Given the description of an element on the screen output the (x, y) to click on. 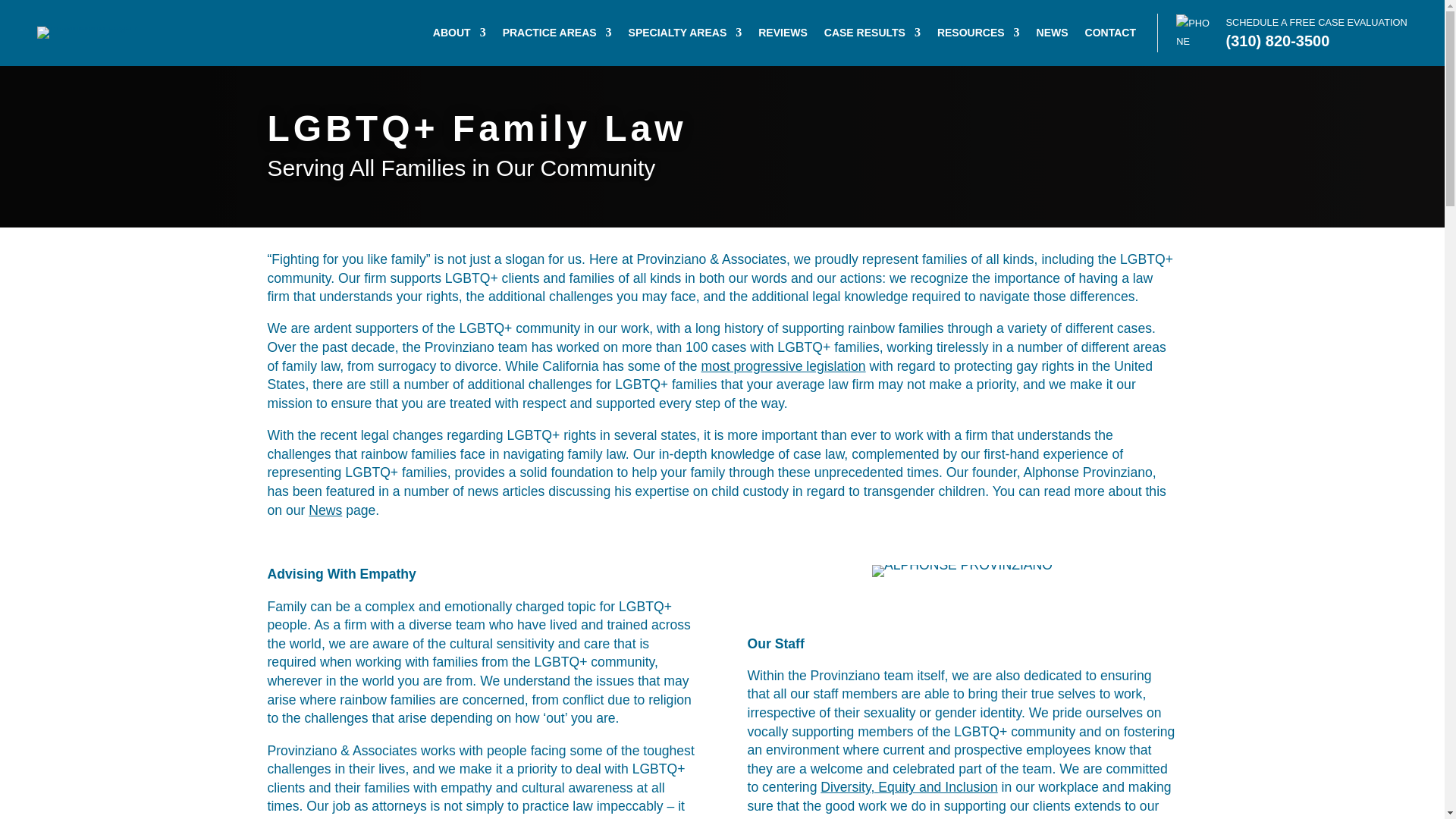
PRACTICE AREAS (556, 35)
SPECIALTY AREAS (685, 35)
most progressive legislation (783, 365)
ABOUT (459, 35)
wedding-couple-800w (962, 571)
CONTACT (1109, 35)
RESOURCES (978, 35)
REVIEWS (783, 35)
provinziano-logo-2 (88, 32)
NEWS (1052, 35)
